Given the description of an element on the screen output the (x, y) to click on. 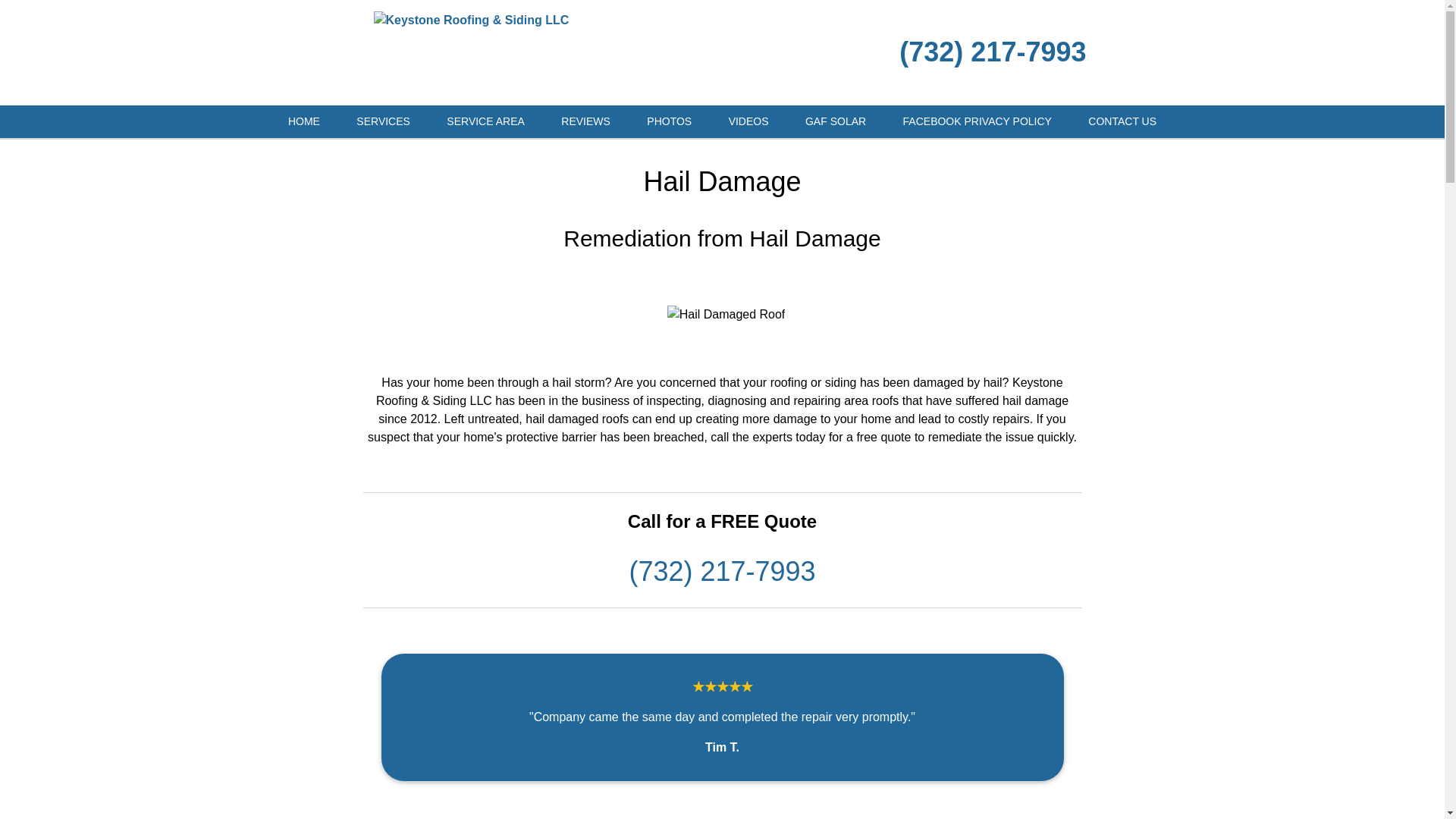
REVIEWS (585, 121)
GAF SOLAR (835, 121)
PHOTOS (668, 121)
HOME (303, 121)
SERVICES (382, 121)
VIDEOS (748, 121)
FACEBOOK PRIVACY POLICY (977, 121)
CONTACT US (1122, 121)
SERVICE AREA (484, 121)
